Given the description of an element on the screen output the (x, y) to click on. 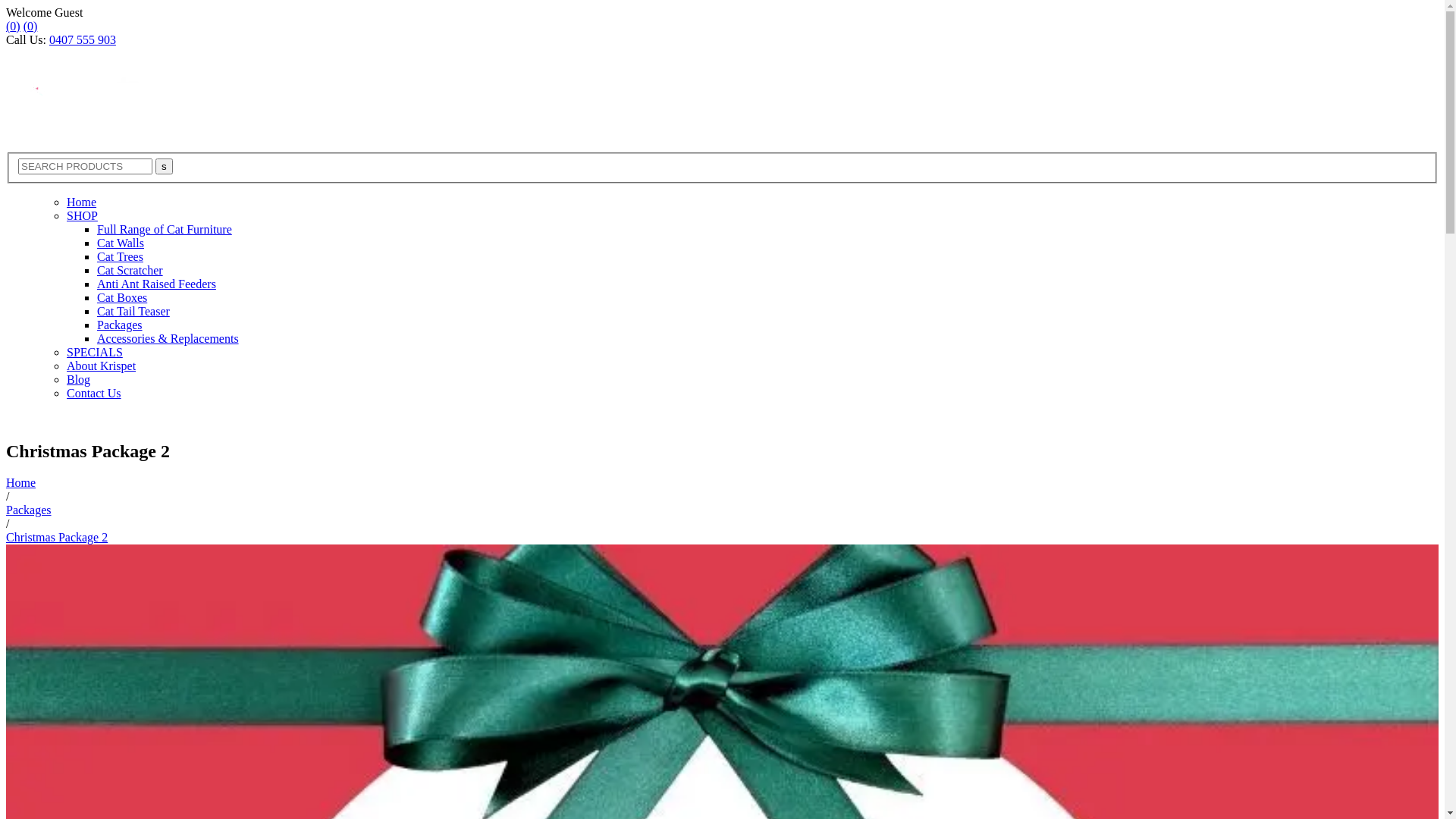
Cat Walls Element type: text (120, 242)
Home Element type: text (81, 201)
Contact Us Element type: text (93, 392)
Cat Tail Teaser Element type: text (133, 310)
s Element type: text (163, 166)
Krispet Pty Ltd Element type: hover (81, 98)
Blog Element type: text (78, 379)
Cat Scratcher Element type: text (130, 269)
Cat Trees Element type: text (120, 256)
Cat Boxes Element type: text (122, 297)
0 Element type: text (30, 25)
0 Element type: text (13, 25)
About Krispet Element type: text (100, 365)
Accessories & Replacements Element type: text (167, 338)
Full Range of Cat Furniture Element type: text (164, 228)
SHOP Element type: text (81, 215)
Christmas Package 2 Element type: text (56, 536)
0407 555 903 Element type: text (82, 39)
SPECIALS Element type: text (94, 351)
Anti Ant Raised Feeders Element type: text (156, 283)
Packages Element type: text (119, 324)
Packages Element type: text (28, 509)
Home Element type: text (20, 482)
